Given the description of an element on the screen output the (x, y) to click on. 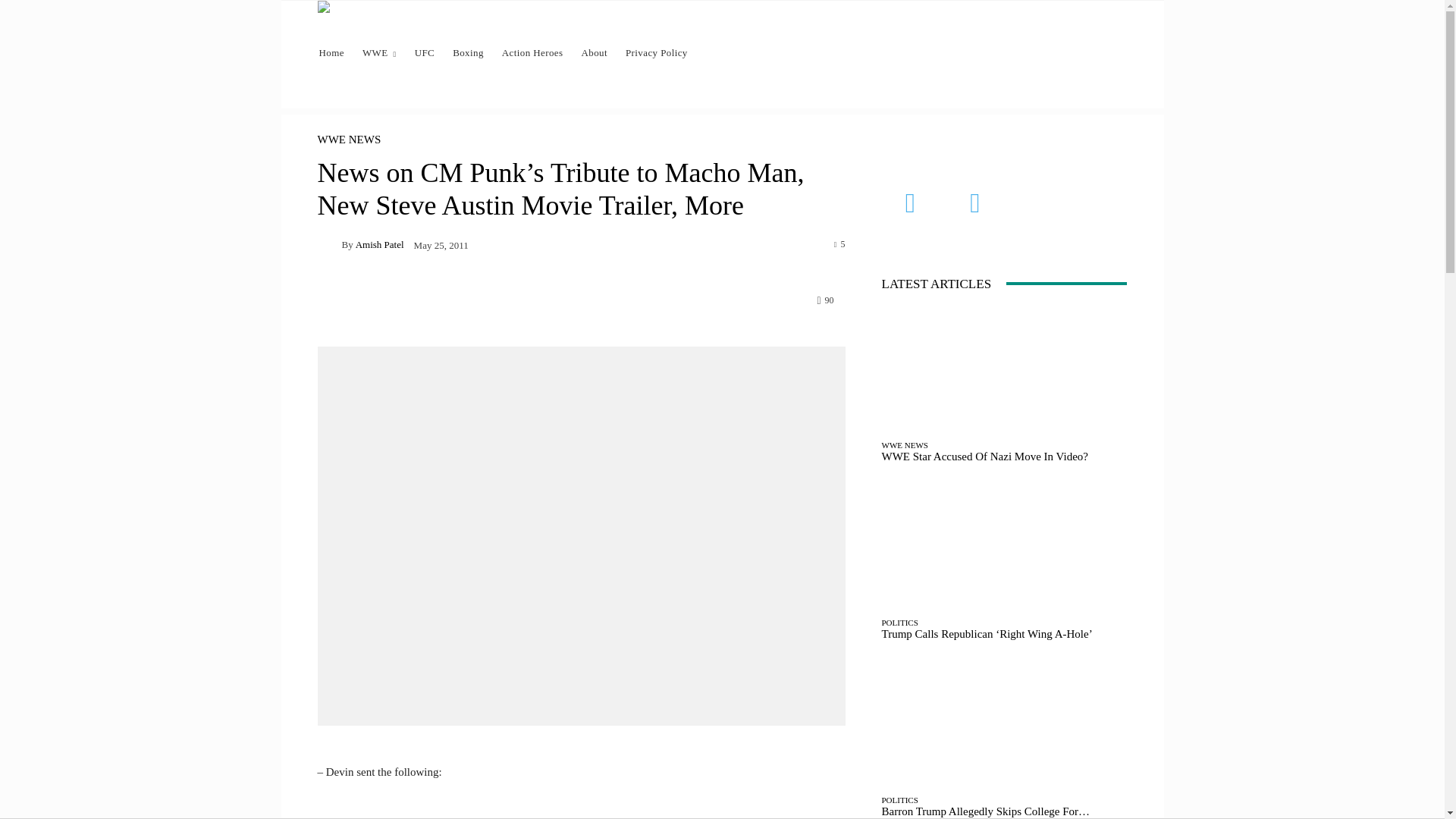
WWE Star Accused Of Nazi Move In Video? (983, 456)
Home (330, 53)
Action Heroes (532, 53)
Boxing (468, 53)
WWE Star Accused Of Nazi Move In Video? (1003, 369)
WWE NEWS (348, 139)
WWE (379, 53)
Amish Patel (379, 244)
UFC (425, 53)
Twitter (975, 202)
